Given the description of an element on the screen output the (x, y) to click on. 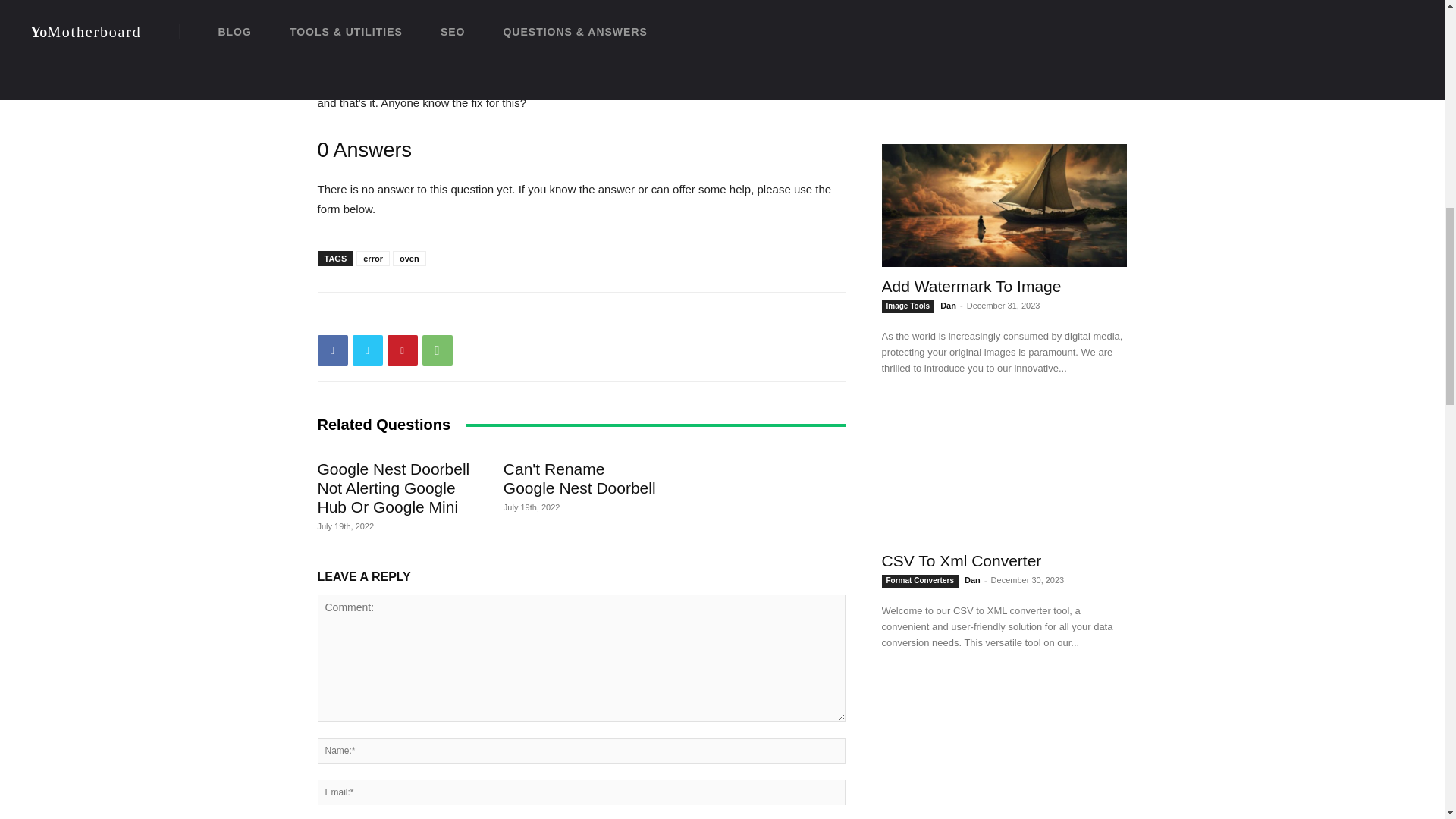
Facebook (332, 349)
oven (409, 258)
Can't Rename Google Nest Doorbell (579, 478)
error (373, 258)
bottomFacebookLike (430, 316)
Google Nest Doorbell Not Alerting Google Hub Or Google Mini (392, 487)
